Given the description of an element on the screen output the (x, y) to click on. 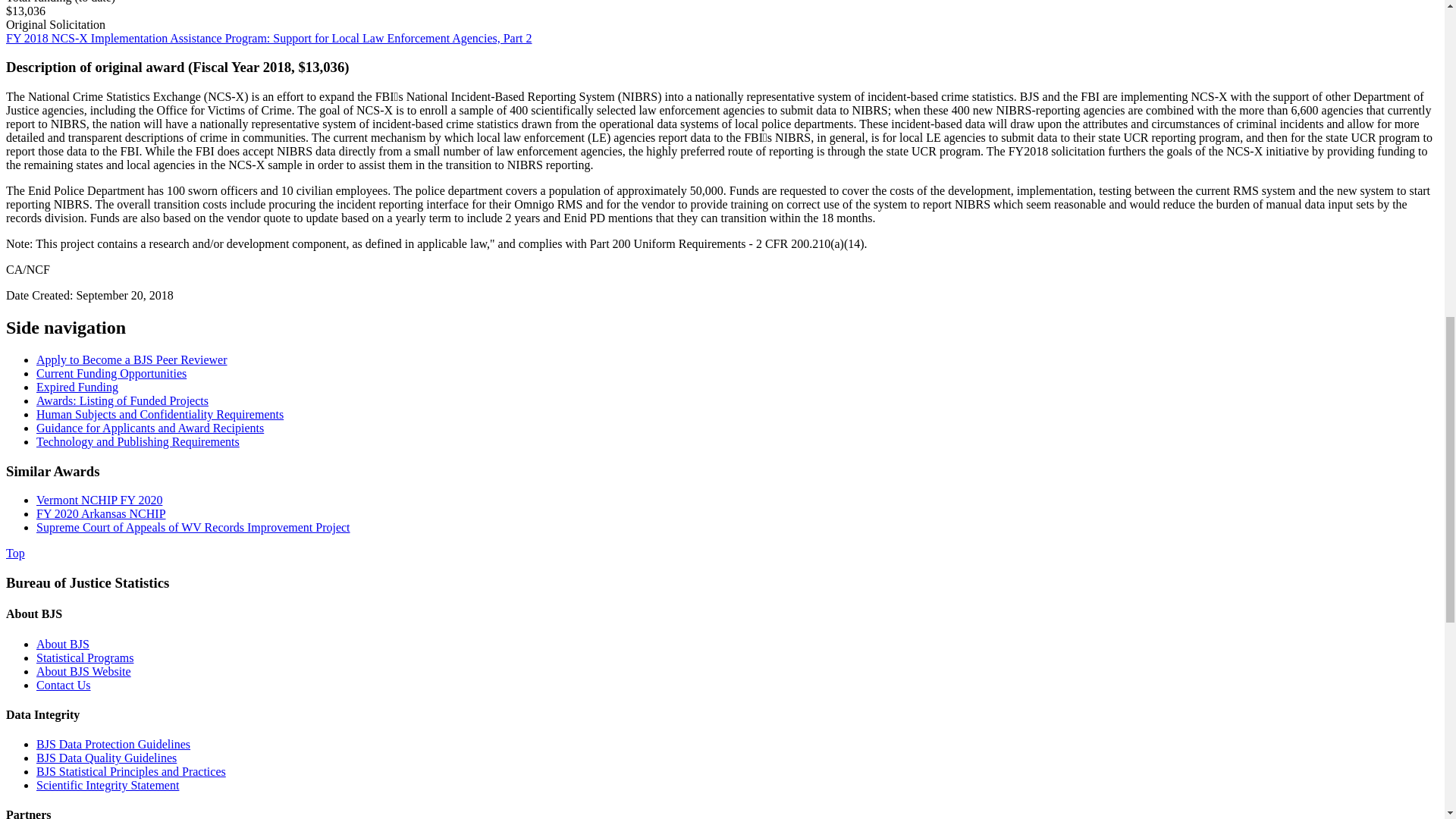
Supreme Court of Appeals of WV Records Improvement Project (193, 526)
Vermont NCHIP FY 2020 (98, 499)
Human Subjects and Confidentiality Requirements (159, 413)
Apply to Become a BJS Peer Reviewer (131, 359)
Guidance for Applicants and Award Recipients (149, 427)
Vermont NCHIP FY 2020 (98, 499)
FY 2020 Arkansas NCHIP (100, 513)
Awards: Listing of Funded Projects (122, 400)
Expired Funding (76, 386)
Current Funding Opportunities (111, 373)
Technology and Publishing Requirements (138, 440)
